Given the description of an element on the screen output the (x, y) to click on. 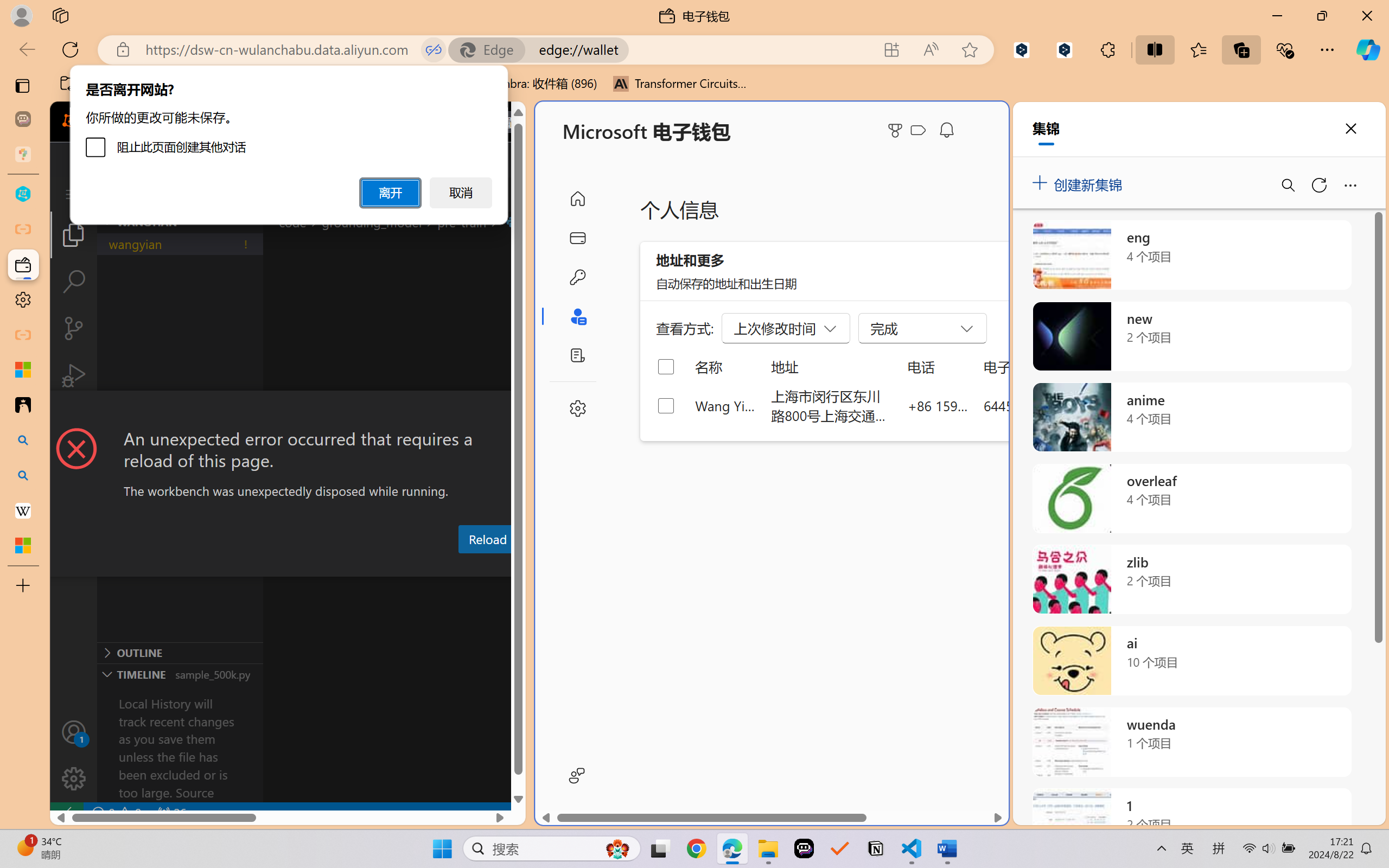
Manage (73, 755)
Transformer Circuits Thread (680, 83)
Class: ___1lmltc5 f1agt3bx f12qytpq (917, 130)
Problems (Ctrl+Shift+M) (308, 565)
No Problems (115, 812)
